Given the description of an element on the screen output the (x, y) to click on. 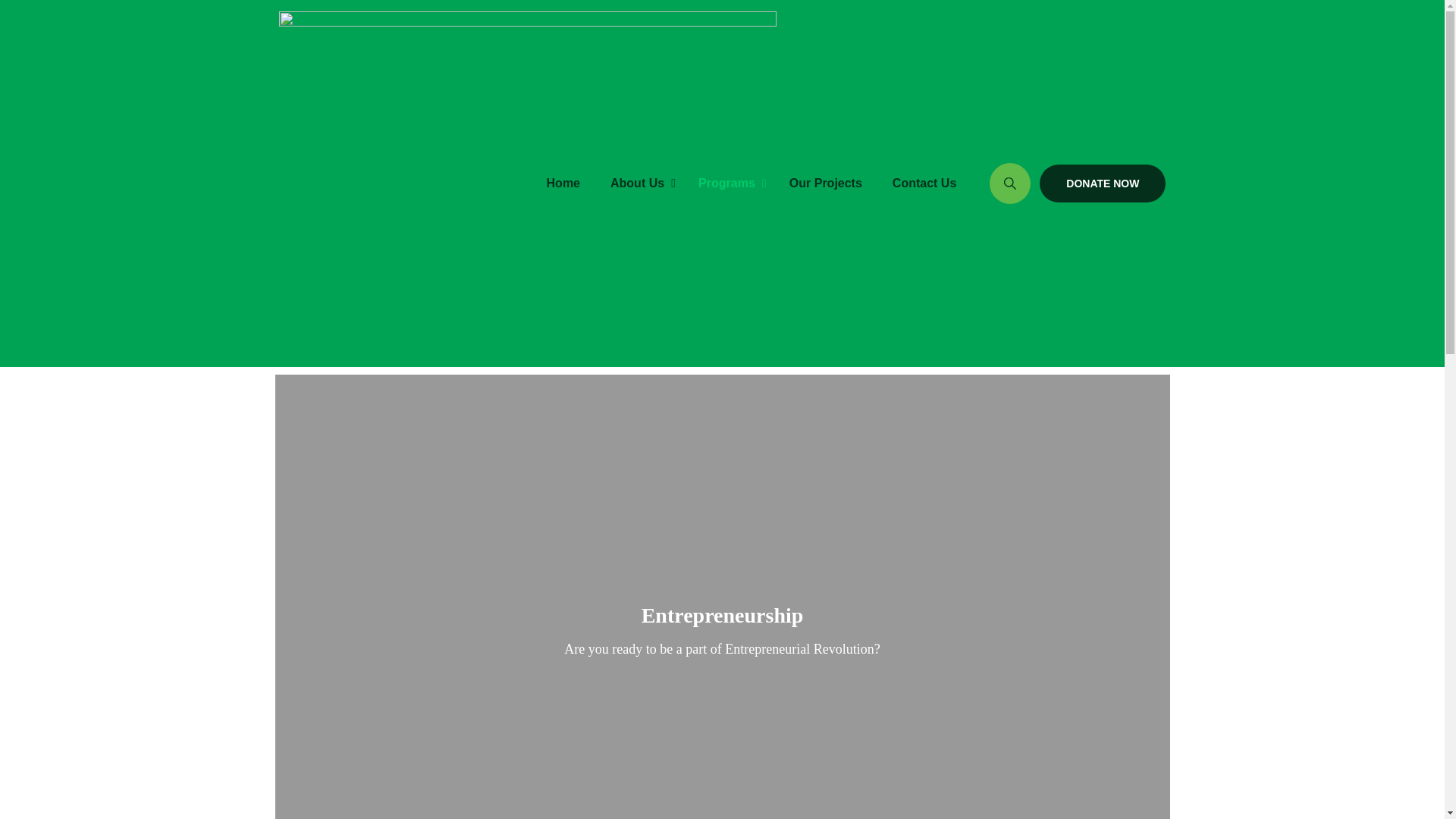
Search (751, 183)
Programs (975, 262)
Entrepreneurship (728, 183)
Home (722, 615)
DONATE NOW (563, 183)
Our Projects (1102, 183)
Contact Us (825, 183)
About Us (924, 183)
